Given the description of an element on the screen output the (x, y) to click on. 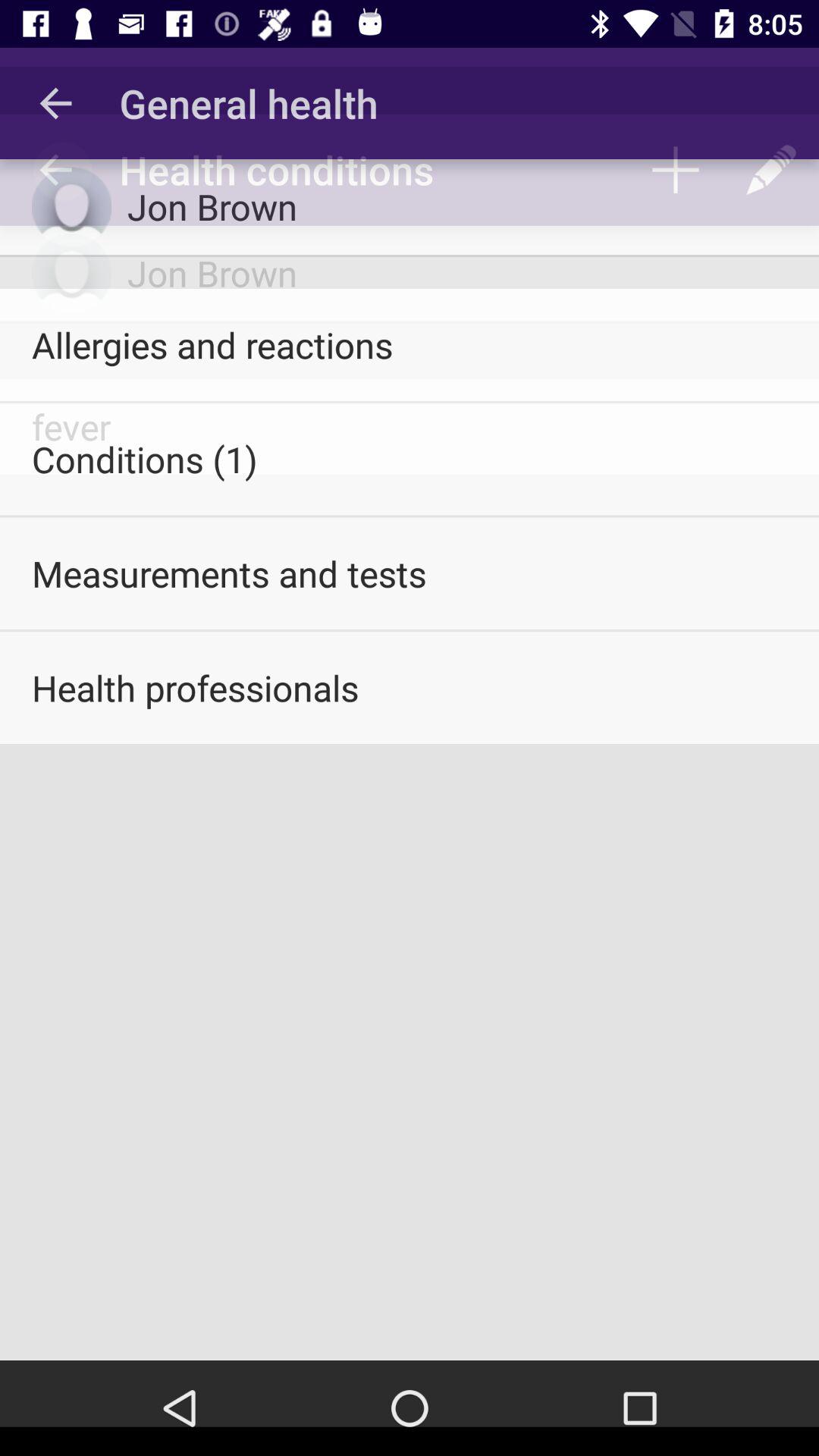
turn on item above the measurements and tests item (409, 459)
